Given the description of an element on the screen output the (x, y) to click on. 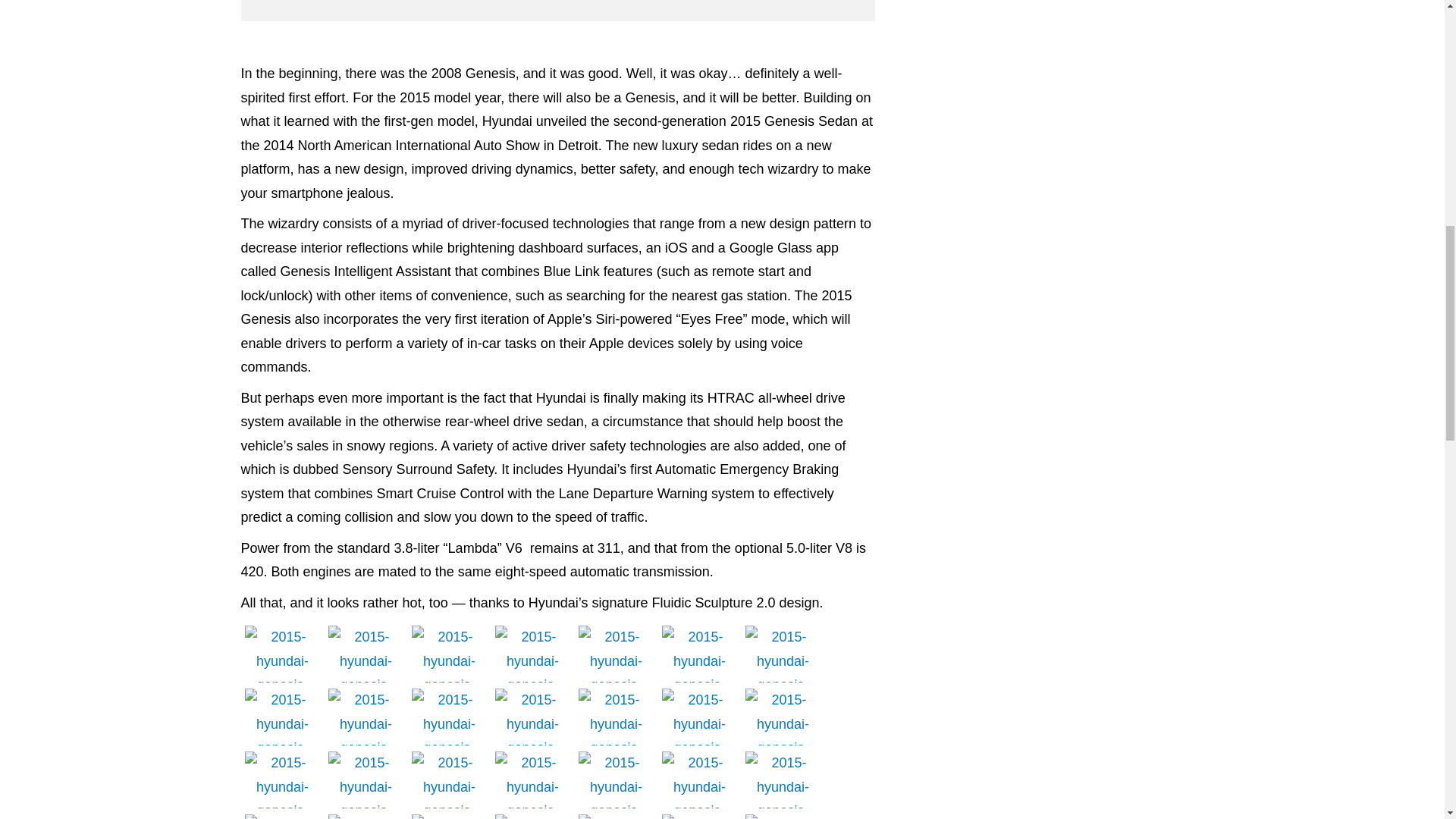
2015-hyundai-genesis-sedan-21 (365, 653)
2015-hyundai-genesis-sedan-24 (615, 653)
2015-hyundai-genesis-sedan-23 (532, 653)
2015-hyundai-genesis-sedan-22 (448, 653)
2015-hyundai-genesis-sedan-30 (282, 653)
